Given the description of an element on the screen output the (x, y) to click on. 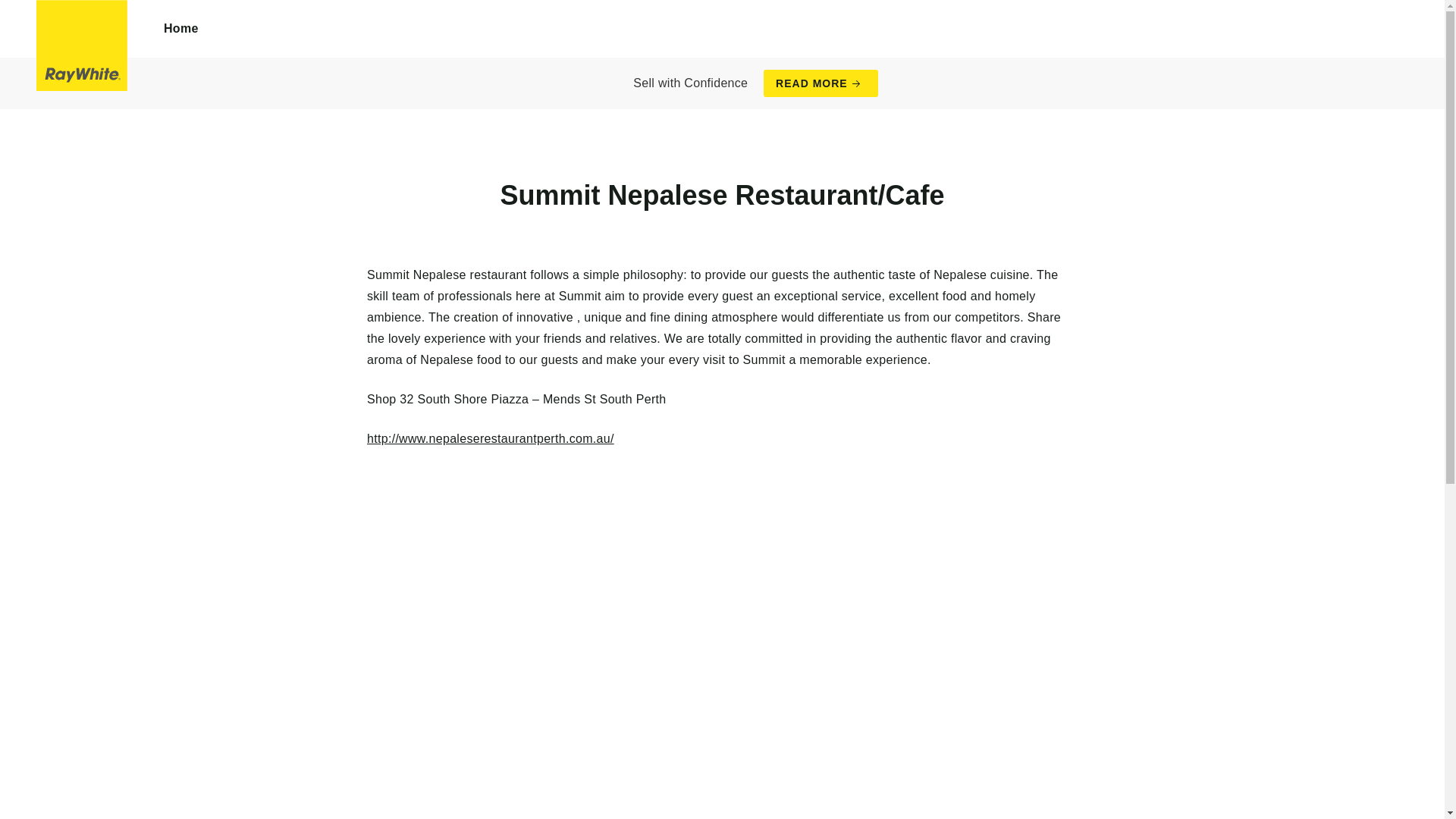
Home (180, 28)
READ MORE (819, 83)
Ray White South Perth (82, 45)
